Given the description of an element on the screen output the (x, y) to click on. 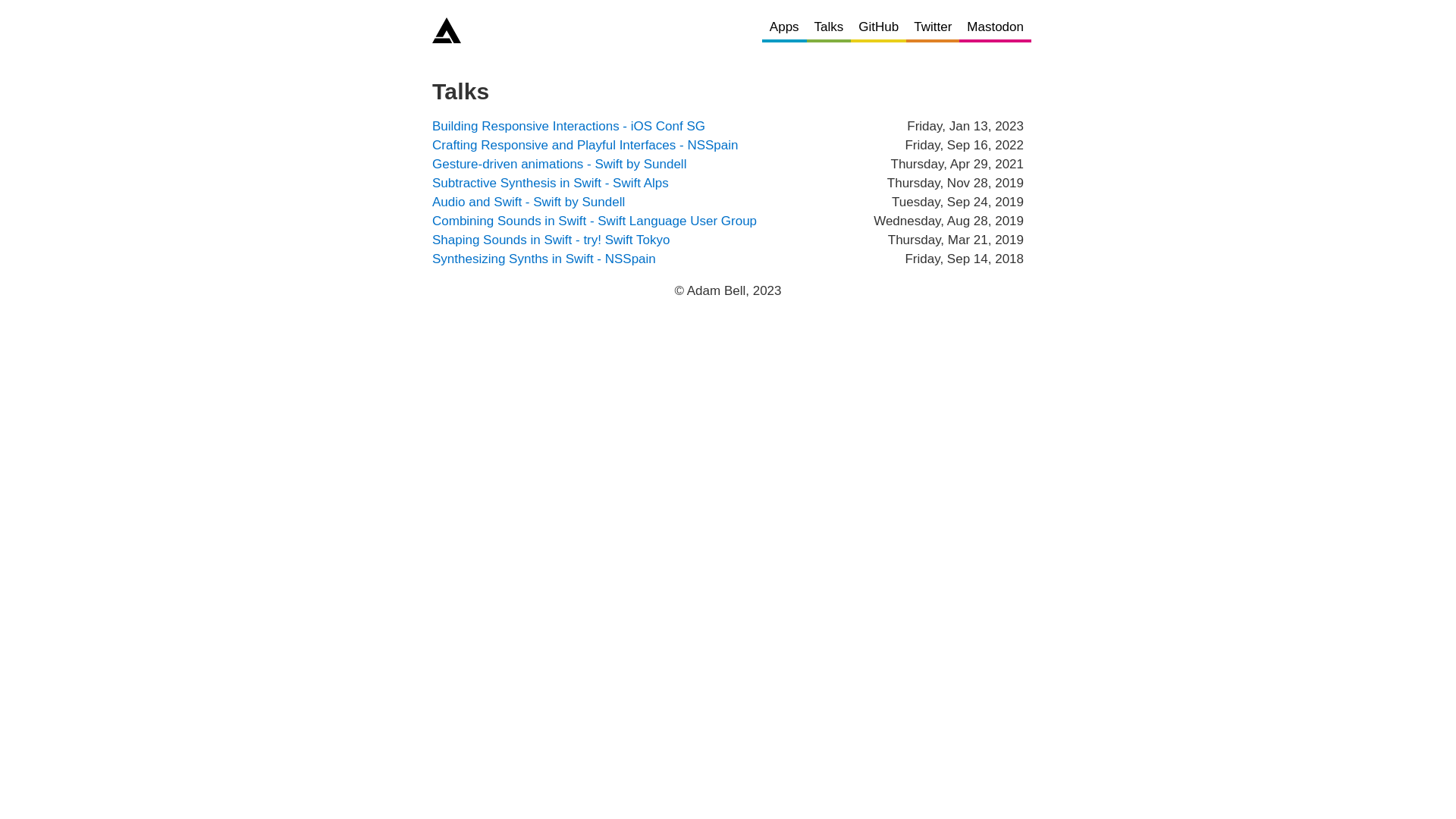
Crafting Responsive and Playful Interfaces - NSSpain Element type: text (584, 144)
Subtractive Synthesis in Swift - Swift Alps Element type: text (550, 182)
Synthesizing Synths in Swift - NSSpain Element type: text (543, 258)
Talks Element type: text (829, 27)
GitHub Element type: text (878, 27)
Building Responsive Interactions - iOS Conf SG Element type: text (568, 125)
Twitter Element type: text (932, 27)
Shaping Sounds in Swift - try! Swift Tokyo Element type: text (550, 239)
Mastodon Element type: text (994, 27)
Gesture-driven animations - Swift by Sundell Element type: text (559, 163)
Combining Sounds in Swift - Swift Language User Group Element type: text (594, 220)
Audio and Swift - Swift by Sundell Element type: text (528, 201)
Apps Element type: text (784, 27)
